Given the description of an element on the screen output the (x, y) to click on. 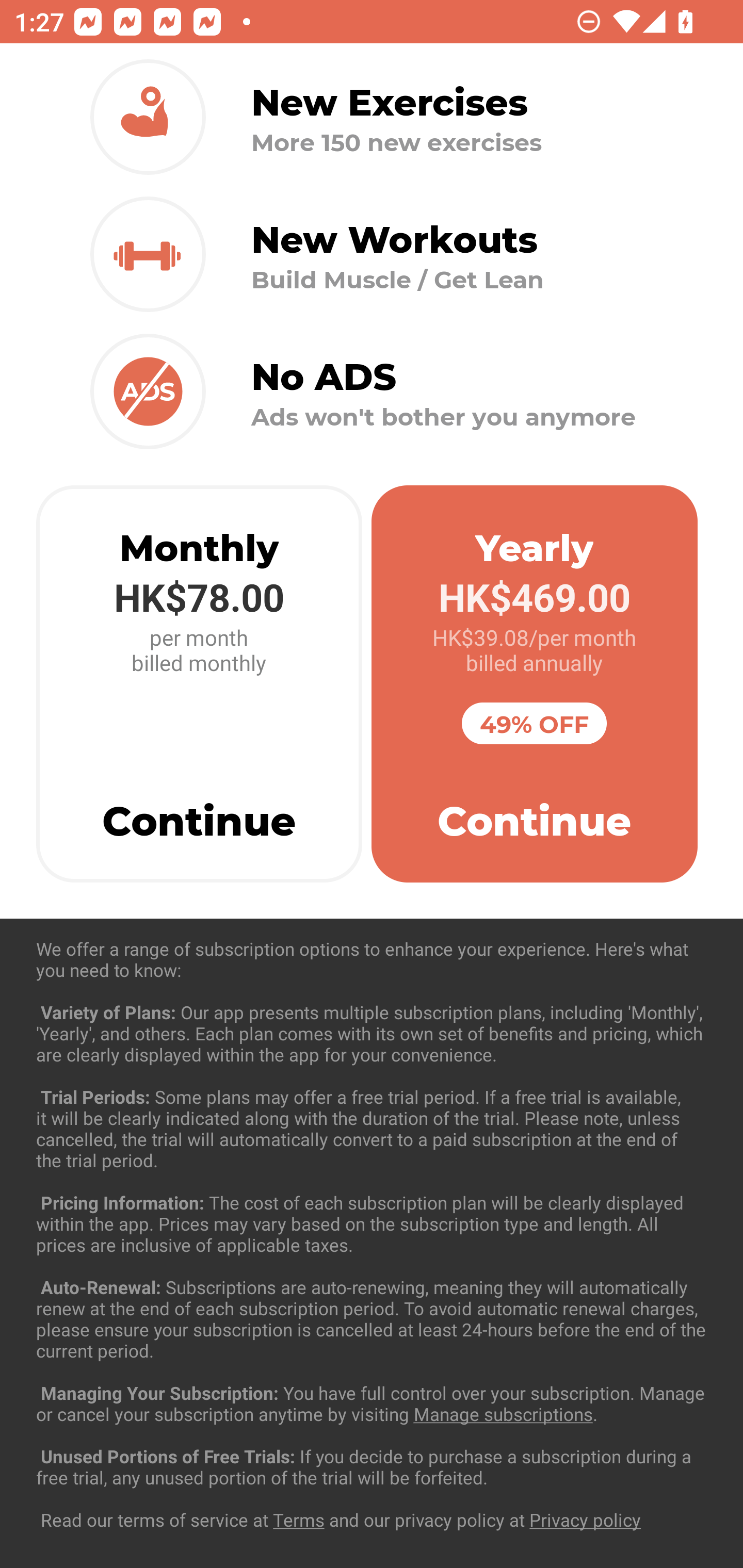
Monthly HK$78.00 per month
billed monthly Continue (199, 684)
Exercise Chest 37 exercises (371, 1033)
Exercise Forearms 4 exercises (371, 1232)
Exercise Legs 36 exercises (371, 1430)
